Given the description of an element on the screen output the (x, y) to click on. 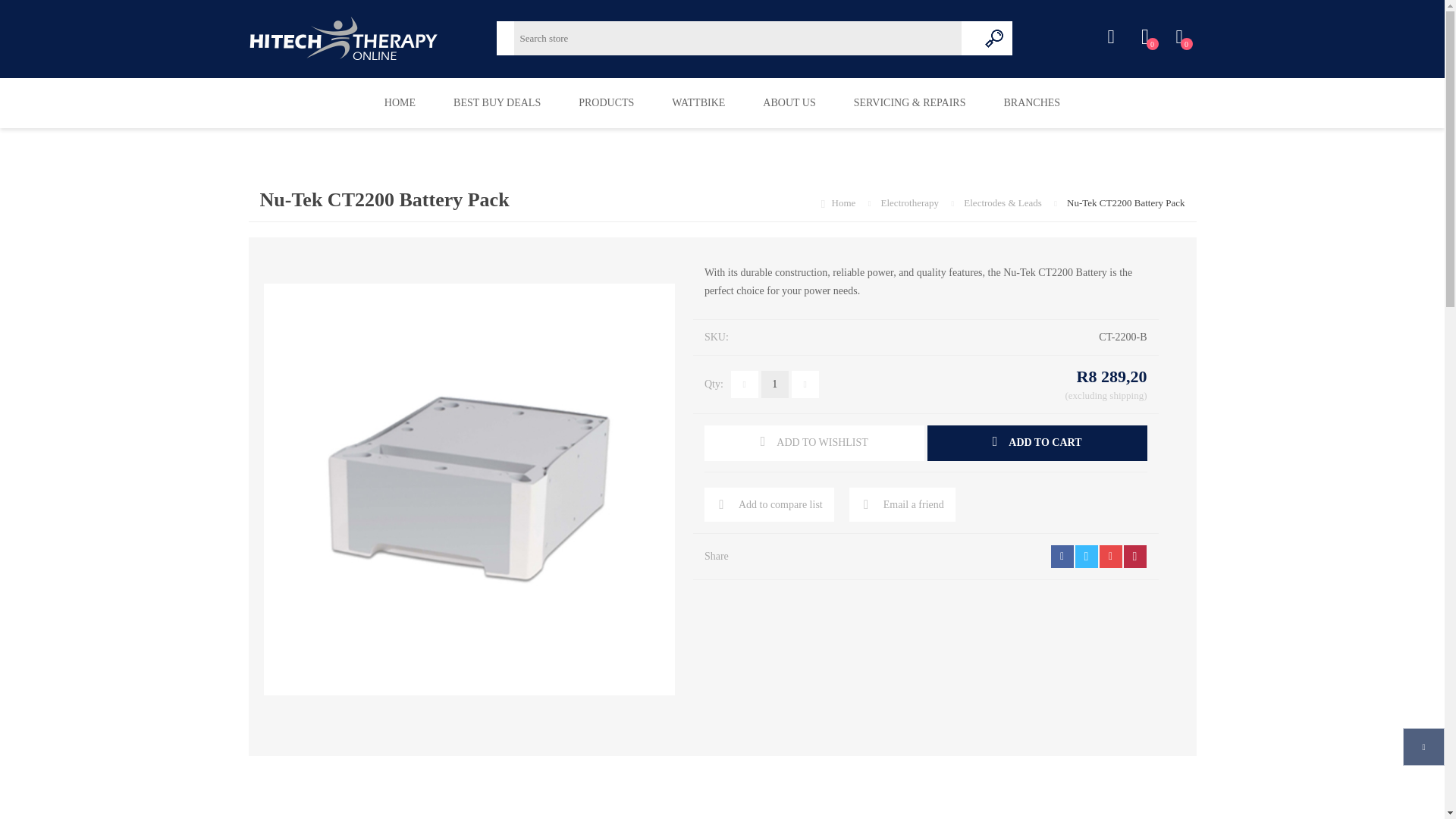
Search (994, 38)
Electrotherapy (911, 202)
Shopping cart (1178, 37)
BEST BUY DEALS (496, 102)
1 (775, 384)
Home (845, 202)
HOME (399, 102)
PRODUCTS (605, 102)
BRANCHES (1144, 37)
WATTBIKE (1031, 102)
Branches (698, 102)
ABOUT US (1031, 102)
